Given the description of an element on the screen output the (x, y) to click on. 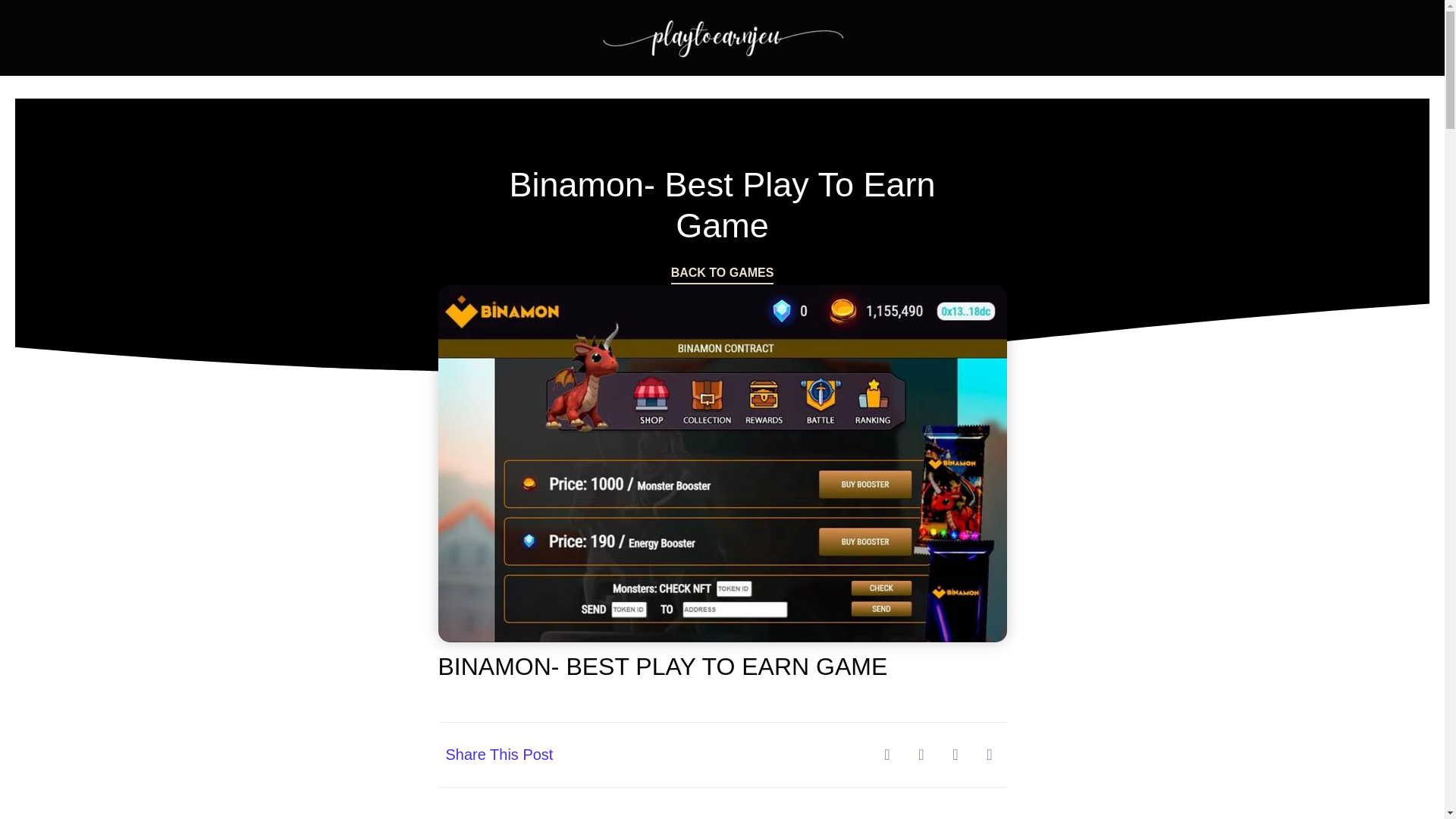
CRYPTO NEWS (819, 87)
HOME (506, 87)
WEB3 GAMES (702, 87)
CONTACT (928, 87)
BACK TO GAMES (722, 275)
ALL GAMES (594, 87)
